Given the description of an element on the screen output the (x, y) to click on. 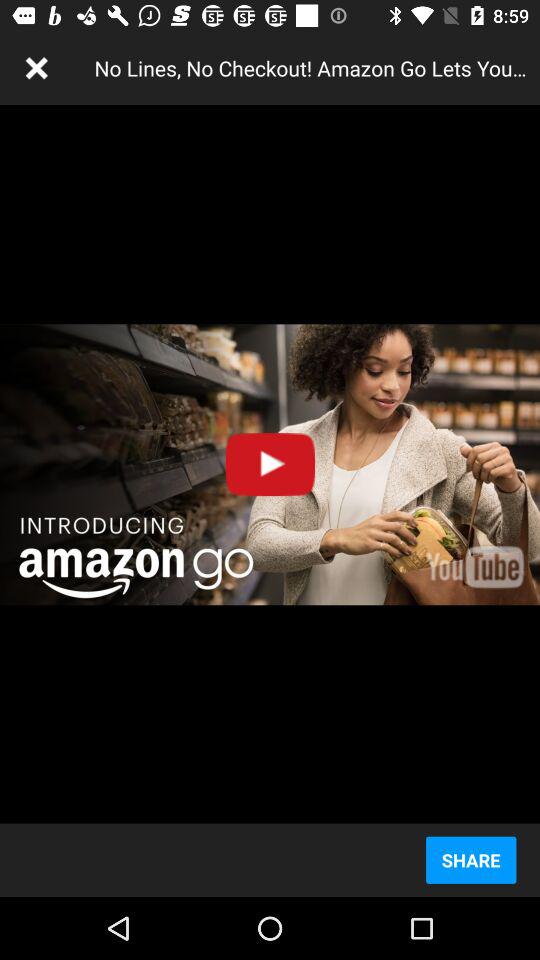
select icon next to the no lines no item (36, 68)
